Given the description of an element on the screen output the (x, y) to click on. 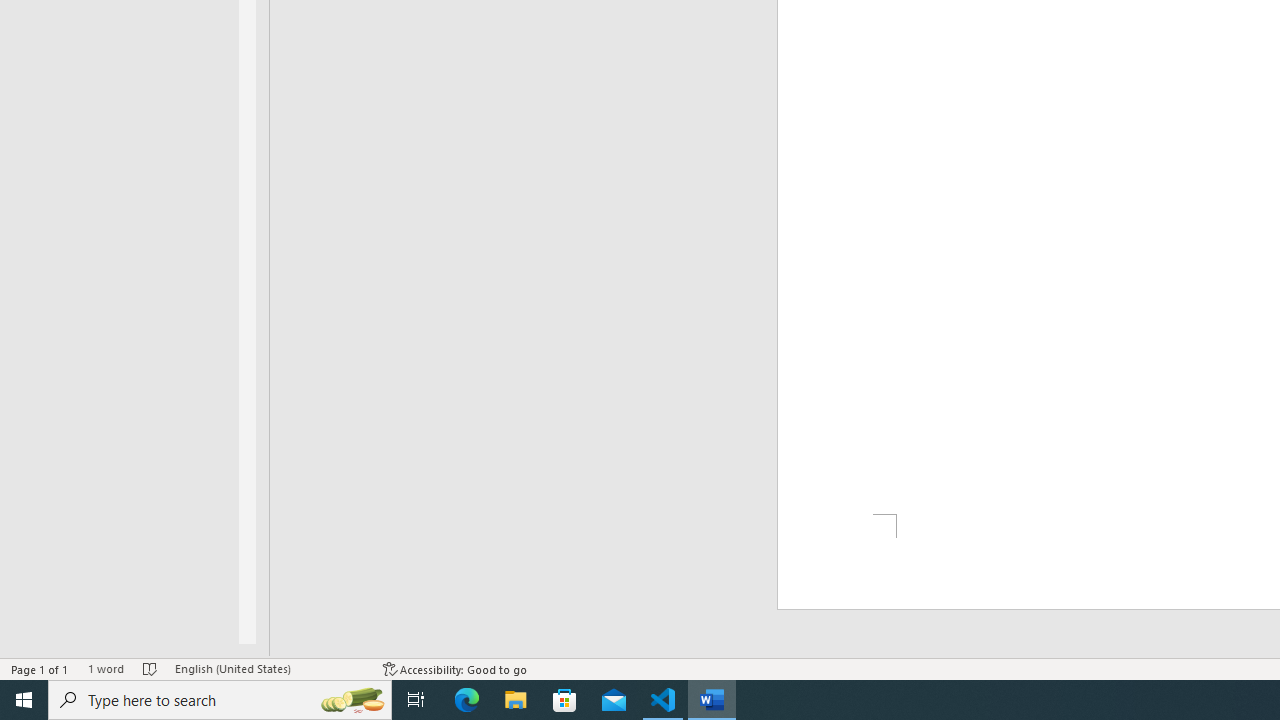
Page Number Page 1 of 1 (39, 668)
Spelling and Grammar Check No Errors (150, 668)
